Given the description of an element on the screen output the (x, y) to click on. 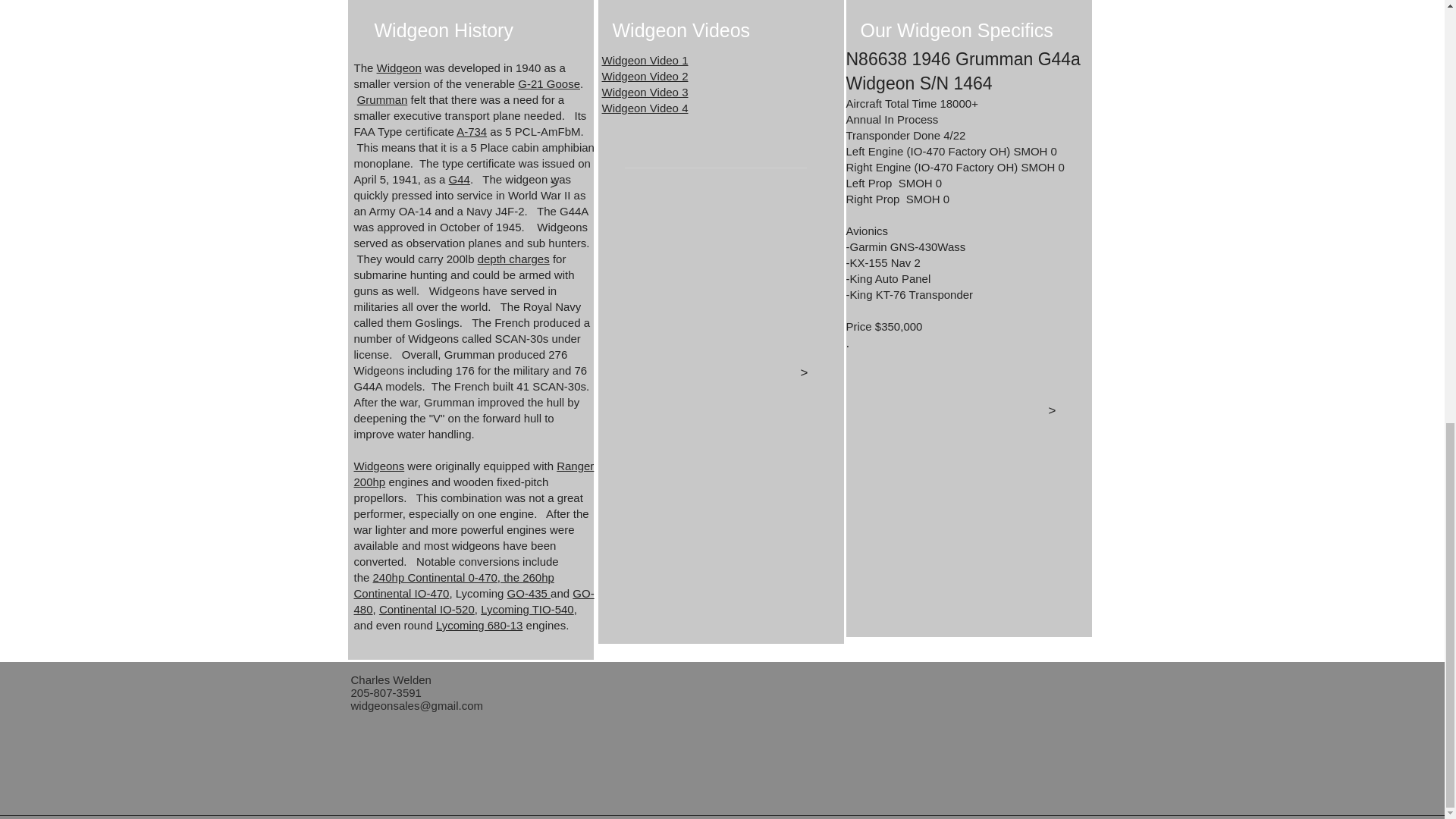
Widgeon Video 1 (645, 60)
A-734 (471, 131)
Widgeon (399, 67)
Grumman (381, 99)
Widgeons (378, 465)
G-21 Goose (548, 83)
Lycoming 680-13 (478, 625)
240hp Continental 0-470, the 260hp Continental IO-470 (453, 584)
Widgeon Video 4 (645, 107)
Ranger 200hp (473, 473)
Continental IO-520 (426, 608)
Widgeon Video 3 (645, 91)
Widgeon Video 2 (645, 75)
Read more (298, 164)
depth charges (513, 258)
